Given the description of an element on the screen output the (x, y) to click on. 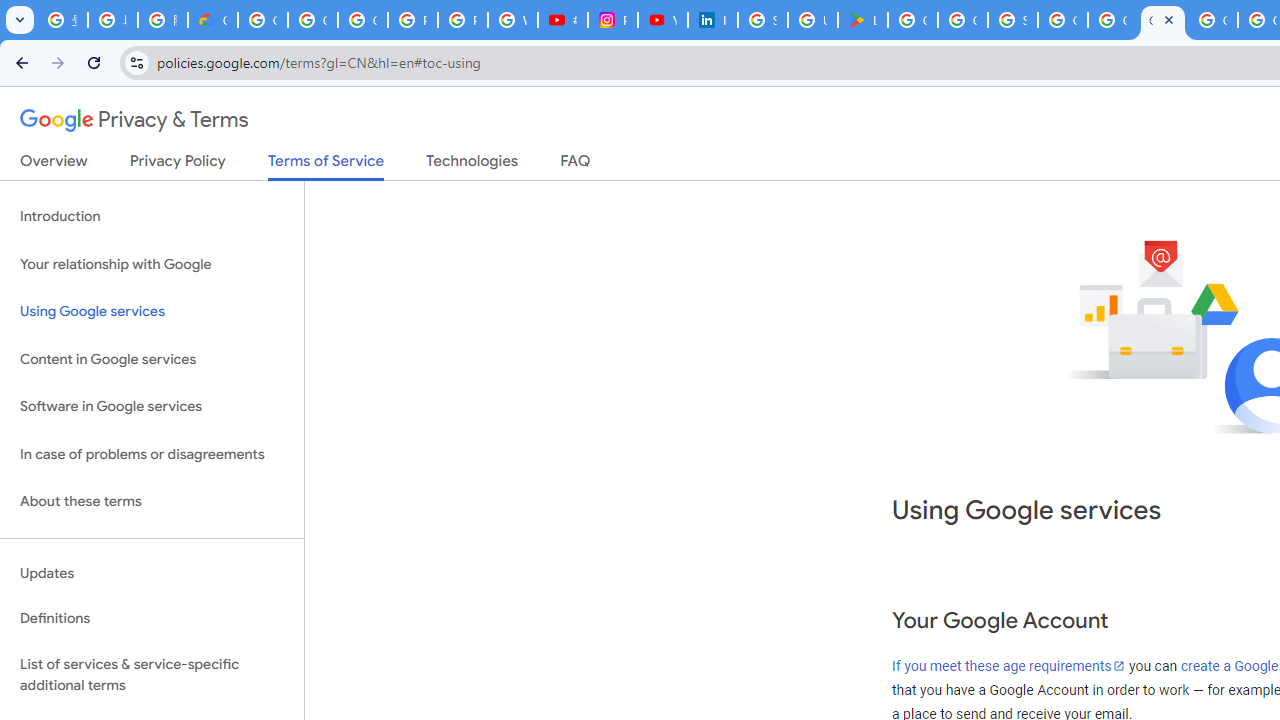
Privacy Help Center - Policies Help (462, 20)
Content in Google services (152, 358)
Introduction (152, 216)
Last Shelter: Survival - Apps on Google Play (863, 20)
#nbabasketballhighlights - YouTube (562, 20)
